Given the description of an element on the screen output the (x, y) to click on. 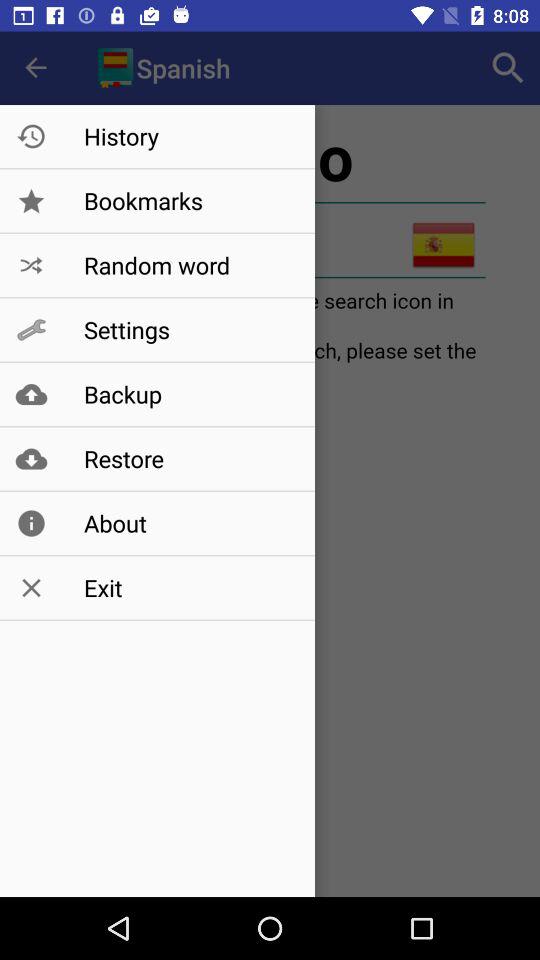
jump until the random word icon (188, 265)
